Given the description of an element on the screen output the (x, y) to click on. 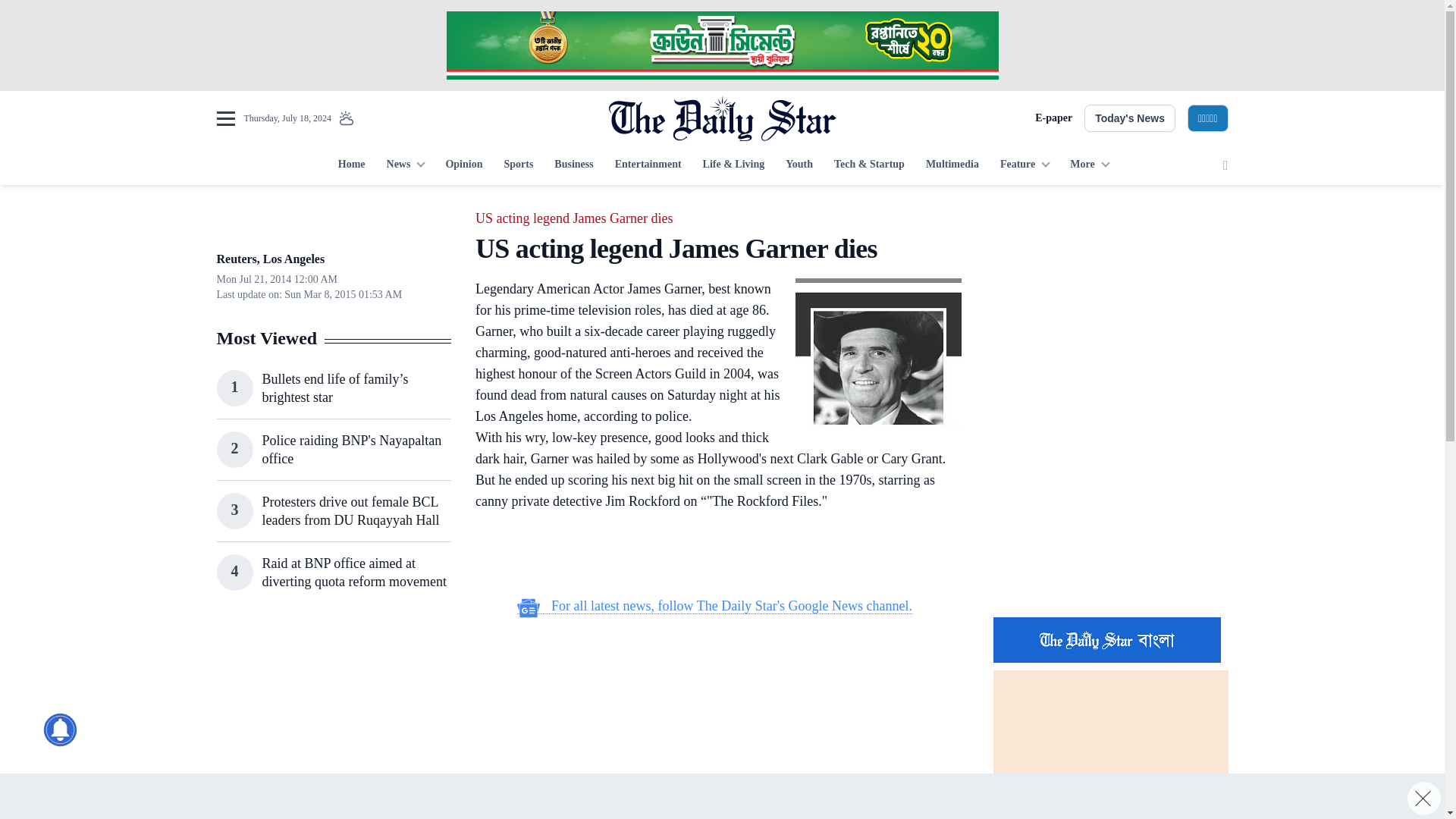
Youth (799, 165)
3rd party ad content (721, 796)
3rd party ad content (1110, 302)
Opinion (463, 165)
3rd party ad content (713, 725)
News (405, 165)
3rd party ad content (721, 45)
Home (351, 165)
3rd party ad content (714, 555)
Business (573, 165)
Feature (1024, 165)
3rd party ad content (332, 717)
E-paper (1053, 117)
3rd party ad content (1110, 506)
Multimedia (952, 165)
